Given the description of an element on the screen output the (x, y) to click on. 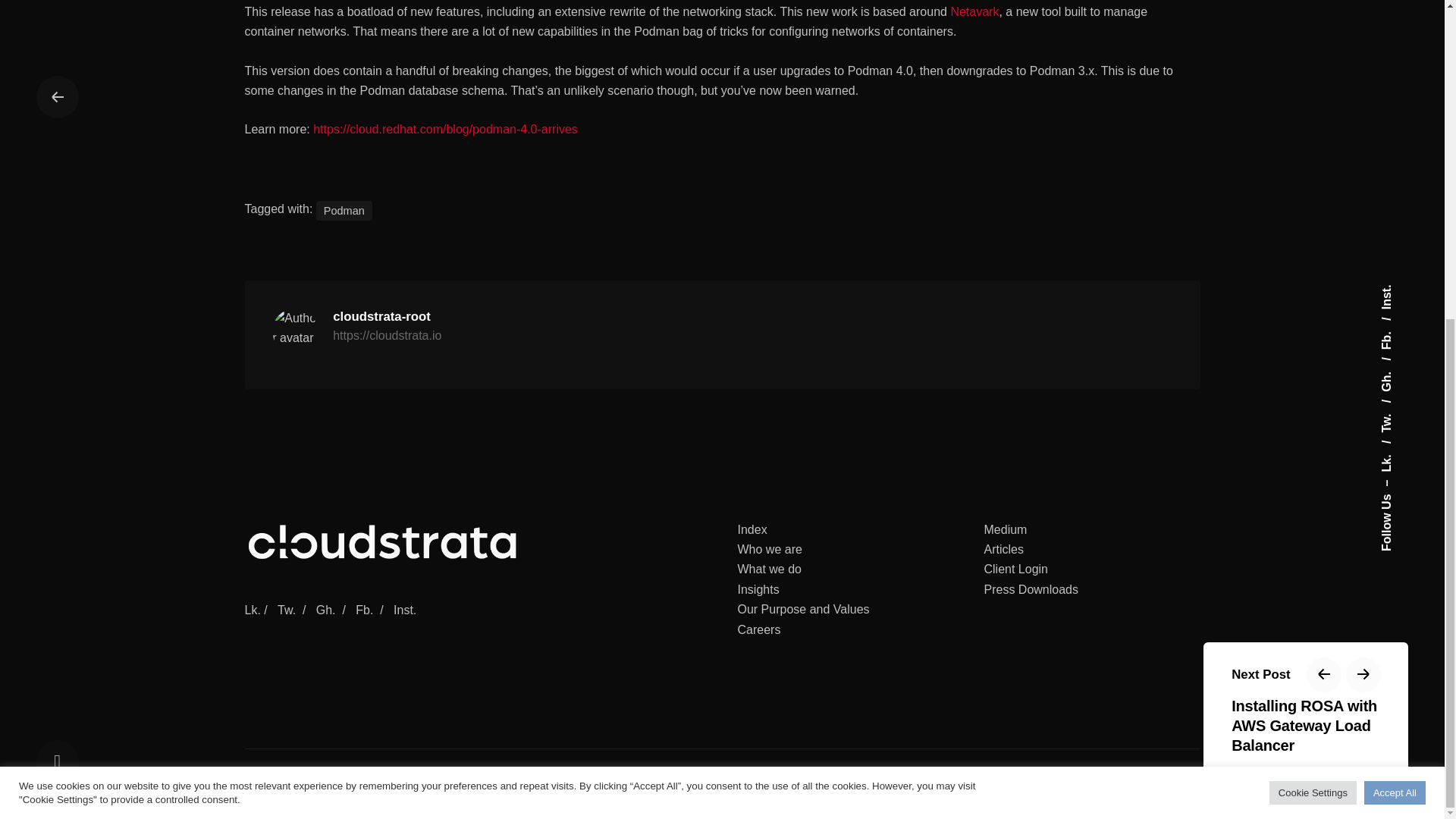
Netavark (974, 11)
Podman (344, 210)
Installing ROSA with AWS Gateway Load Balancer (1305, 209)
